Given the description of an element on the screen output the (x, y) to click on. 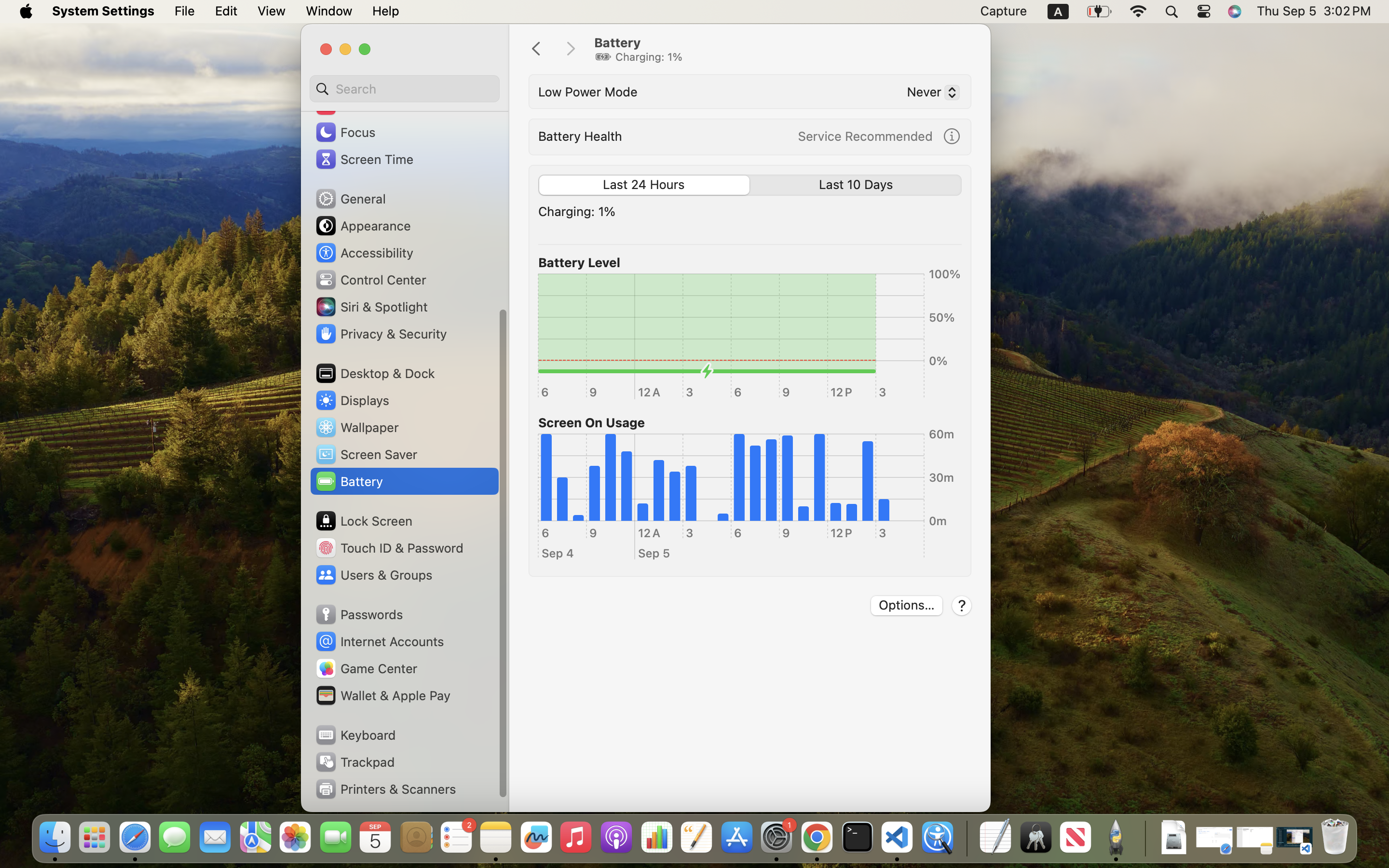
Wallet & Apple Pay Element type: AXStaticText (382, 694)
Printers & Scanners Element type: AXStaticText (385, 788)
Control Center Element type: AXStaticText (370, 279)
Never Element type: AXPopUpButton (929, 93)
Internet Accounts Element type: AXStaticText (378, 640)
